Given the description of an element on the screen output the (x, y) to click on. 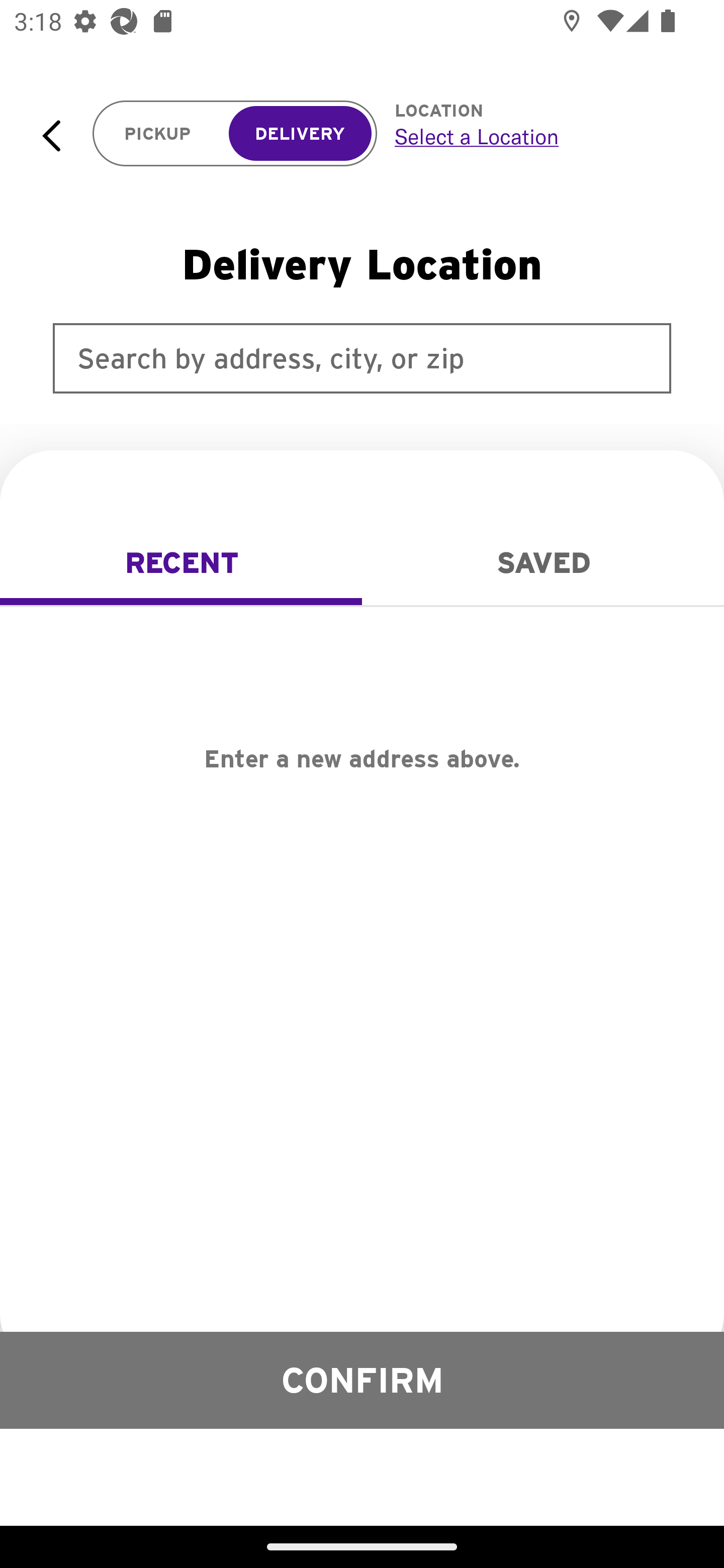
PICKUP (157, 133)
DELIVERY (299, 133)
Select a Location (536, 136)
Search by address, city, or zip (361, 358)
Saved SAVED (543, 562)
CONFIRM (362, 1379)
